Given the description of an element on the screen output the (x, y) to click on. 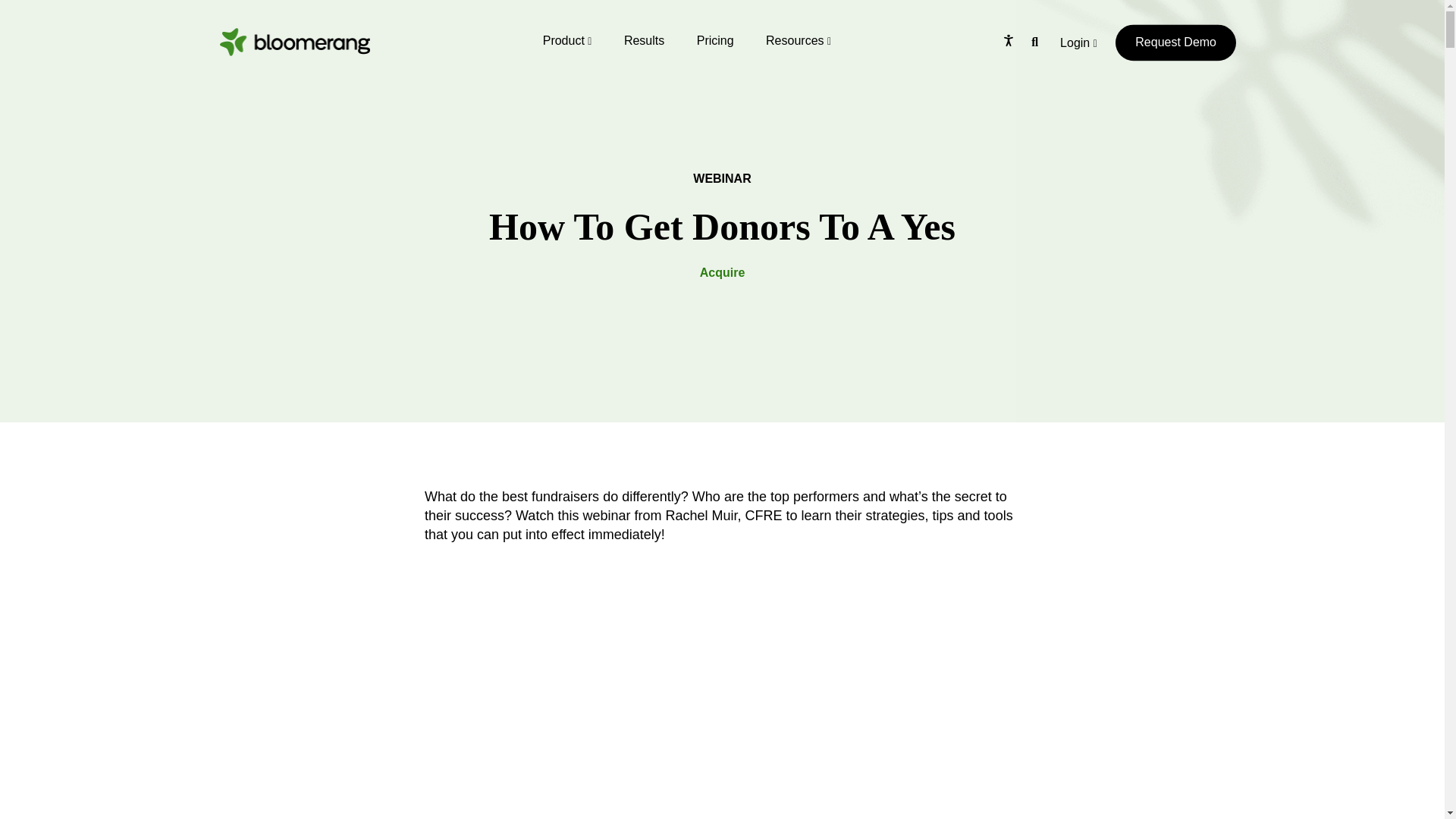
Request Demo (1175, 42)
Resources (798, 40)
Results (643, 40)
Login (1078, 50)
Product (567, 40)
Pricing (715, 40)
Acquire (722, 272)
